Given the description of an element on the screen output the (x, y) to click on. 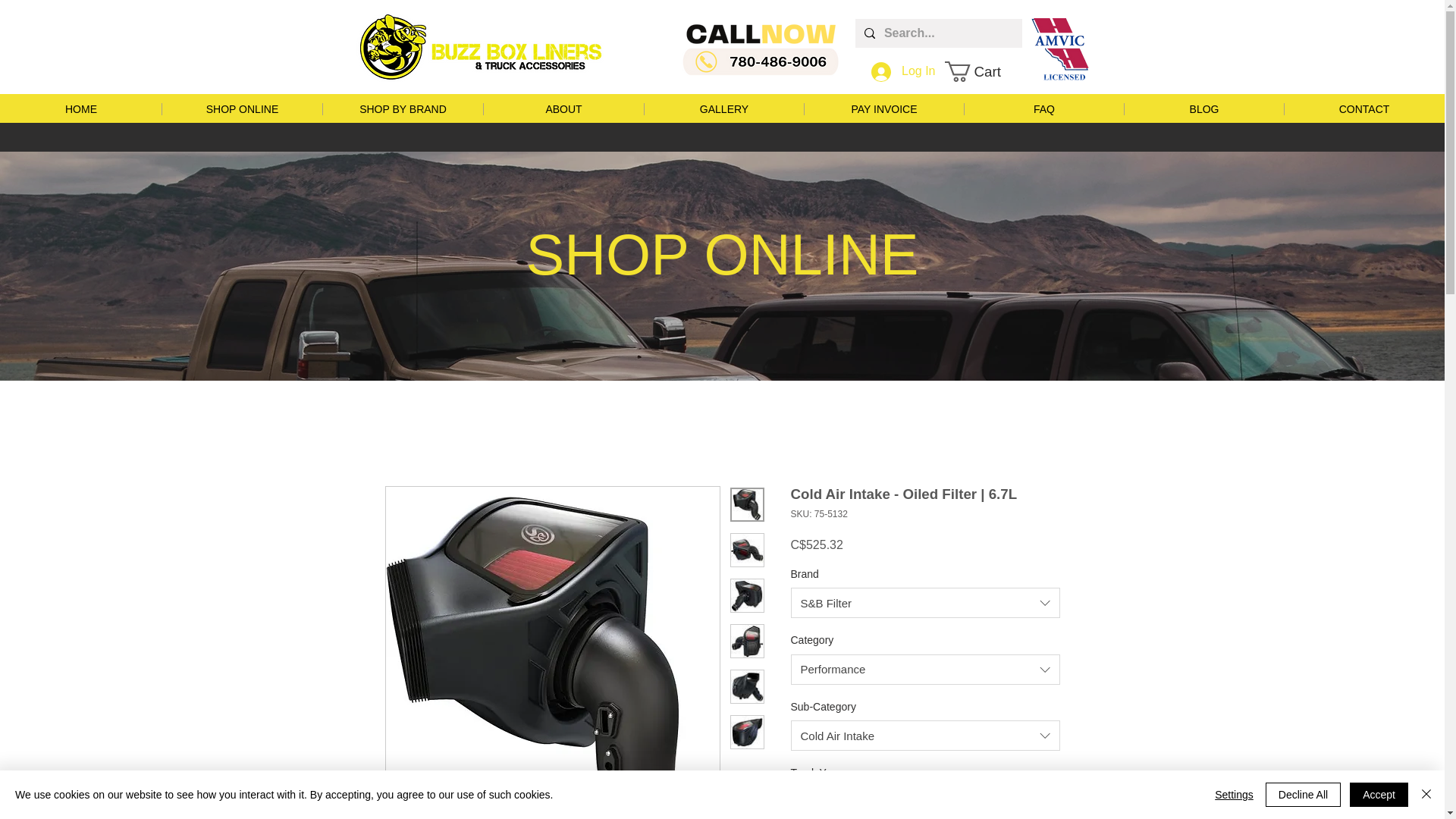
PAY INVOICE (883, 109)
Accept (1378, 794)
Select (924, 802)
Cold Air Intake (924, 735)
SHOP BY BRAND (402, 109)
Cart (983, 71)
ABOUT (563, 109)
SHOP ONLINE (241, 109)
Performance (924, 669)
CONTACT (1364, 109)
